Given the description of an element on the screen output the (x, y) to click on. 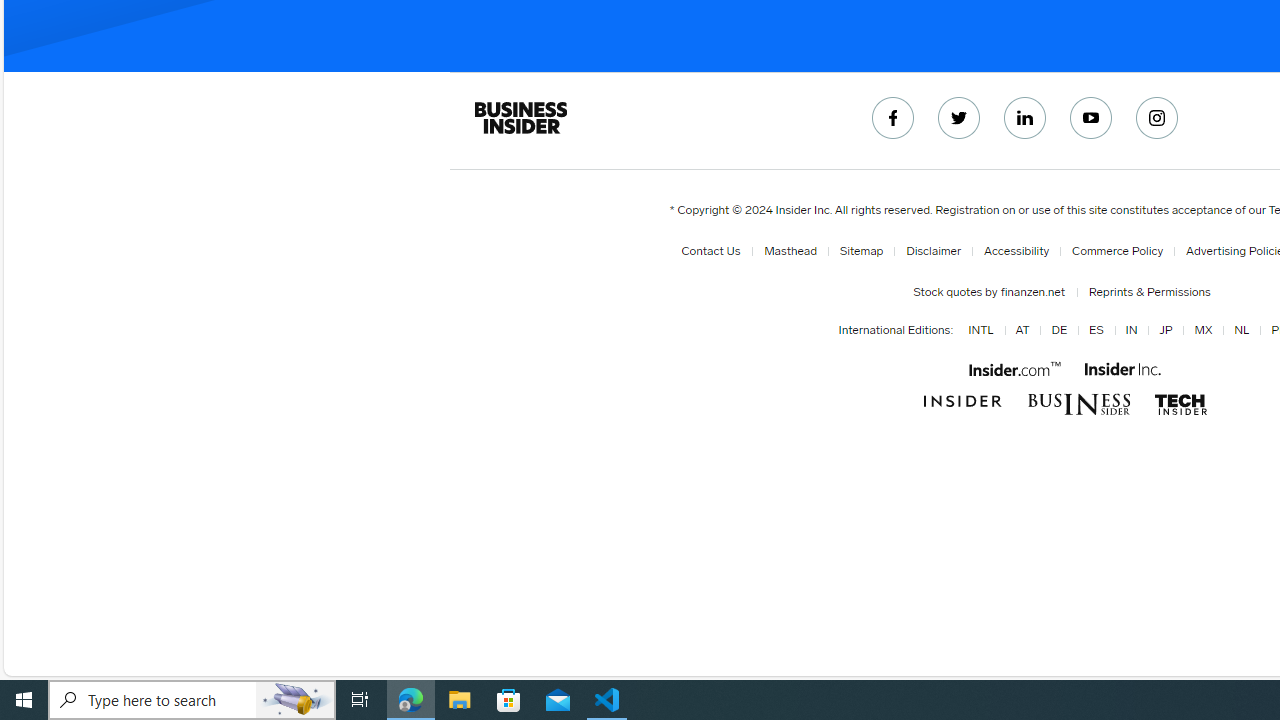
Stock quotes byfinanzen.net (992, 291)
Insider (962, 401)
International Editions: (895, 330)
Sitemap (861, 251)
Commerce Policy (1117, 251)
IN (1131, 331)
Reprints & Permissions (1145, 291)
Disclaimer (929, 251)
IN (1127, 331)
MX (1199, 331)
NL (1241, 331)
Disclaimer (934, 251)
DE (1055, 331)
Accessibility (1016, 251)
ES (1092, 331)
